Given the description of an element on the screen output the (x, y) to click on. 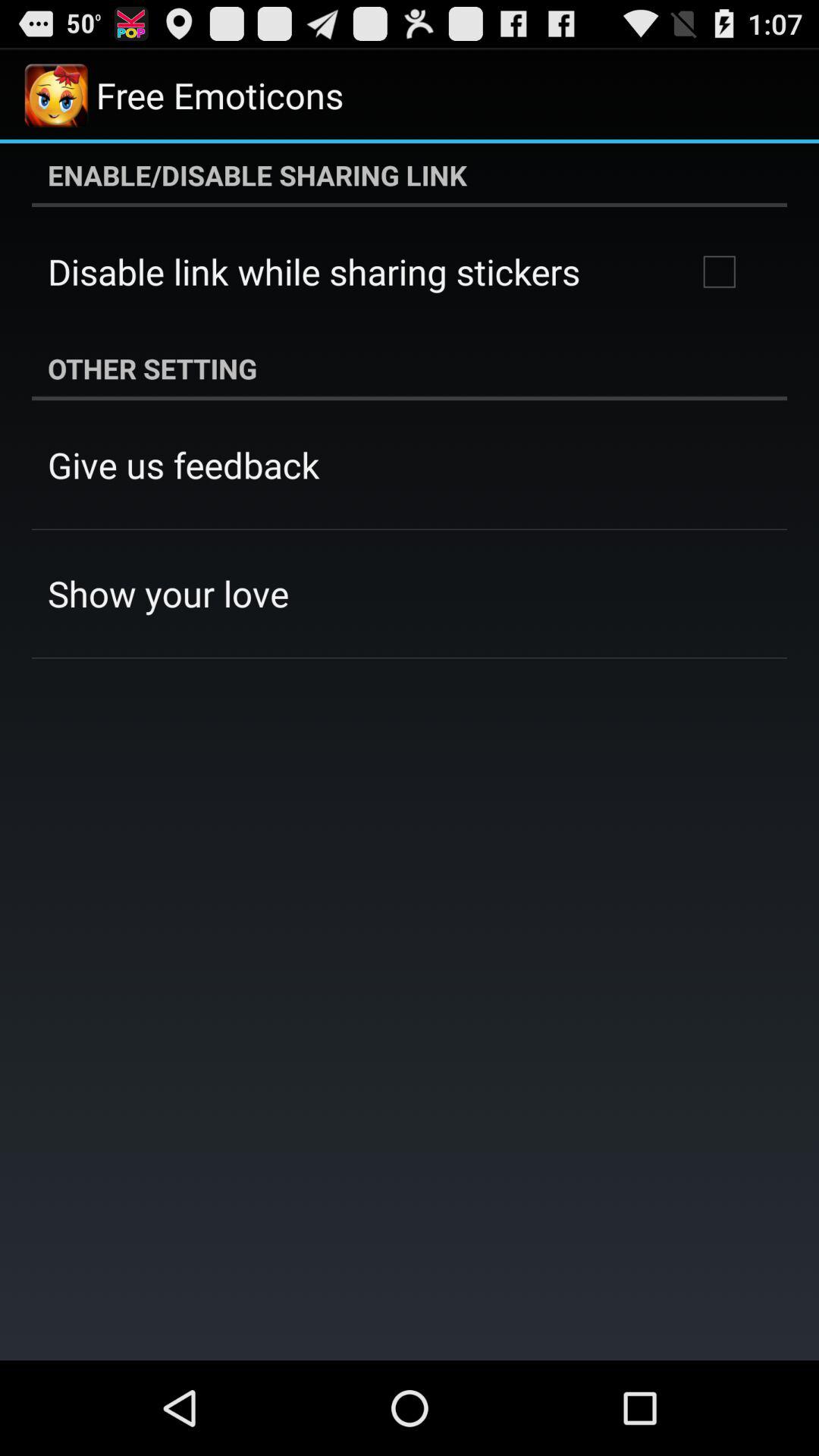
press show your love icon (167, 593)
